Given the description of an element on the screen output the (x, y) to click on. 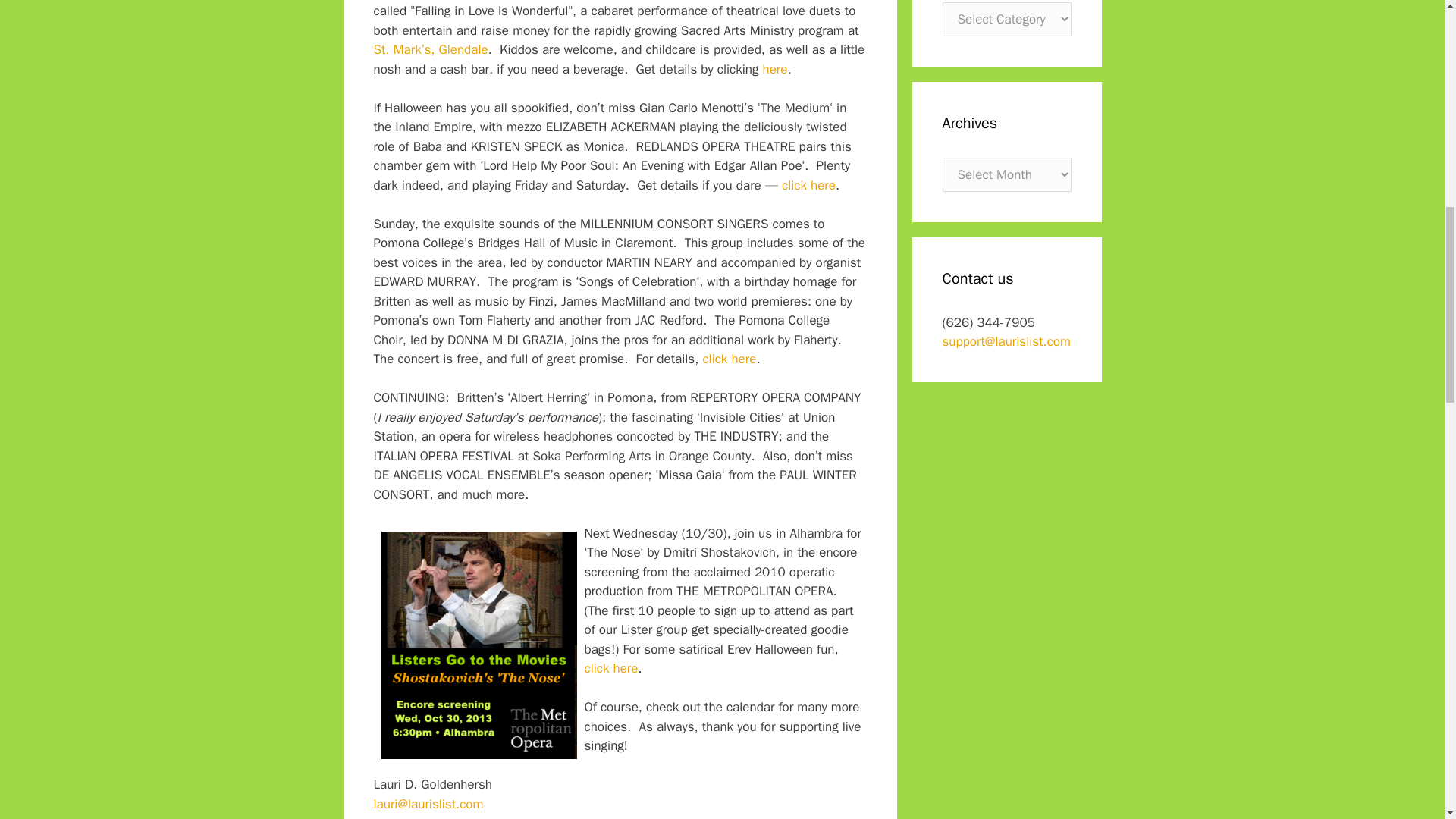
here (774, 68)
click here (610, 668)
click here (728, 358)
click here (808, 185)
